Given the description of an element on the screen output the (x, y) to click on. 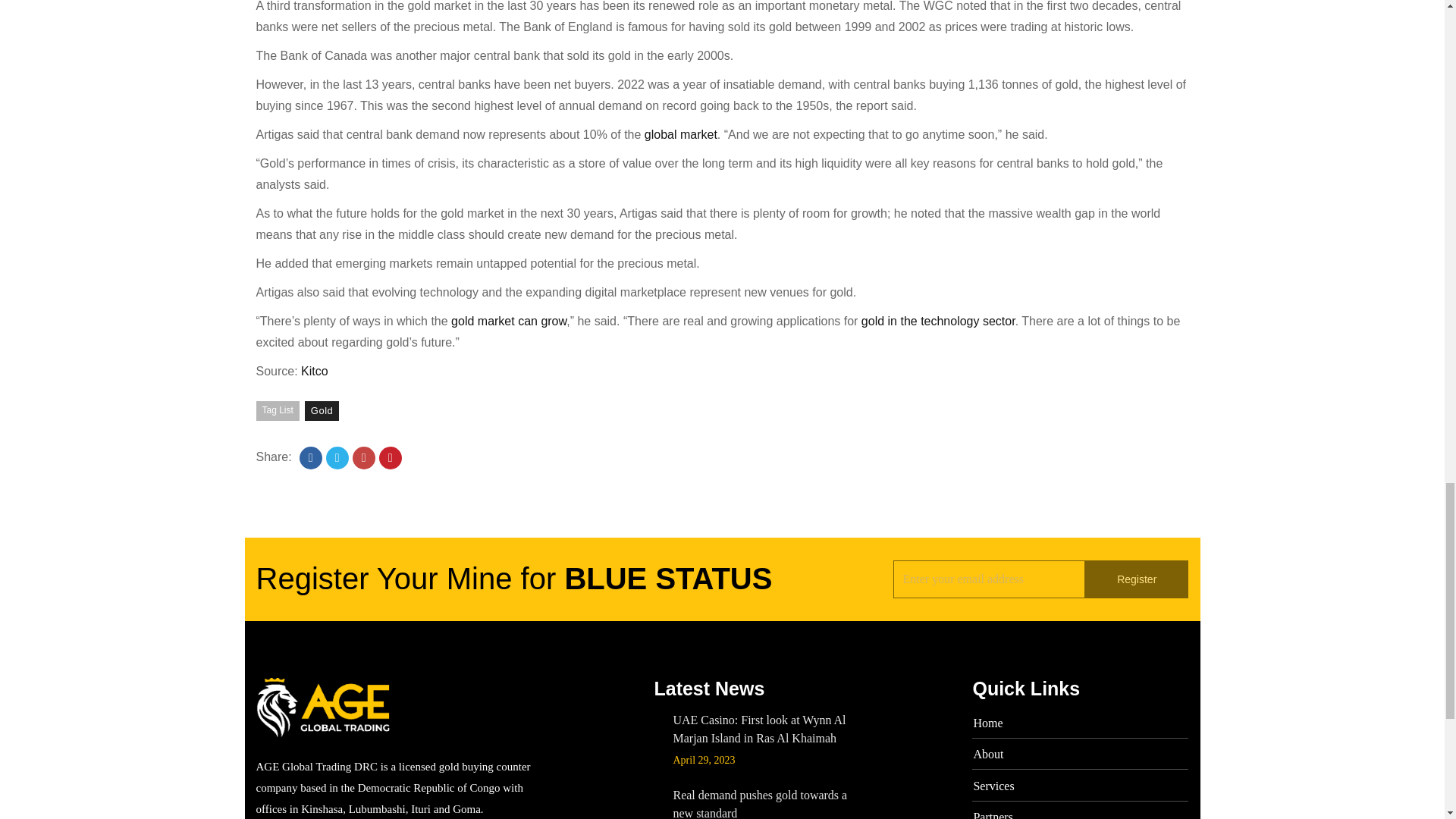
gold market can grow (508, 320)
Enter your email address (988, 579)
Register (1136, 579)
Gold (321, 410)
Kitco (315, 370)
global market (681, 133)
Register (1136, 579)
gold in the technology sector (937, 320)
